Given the description of an element on the screen output the (x, y) to click on. 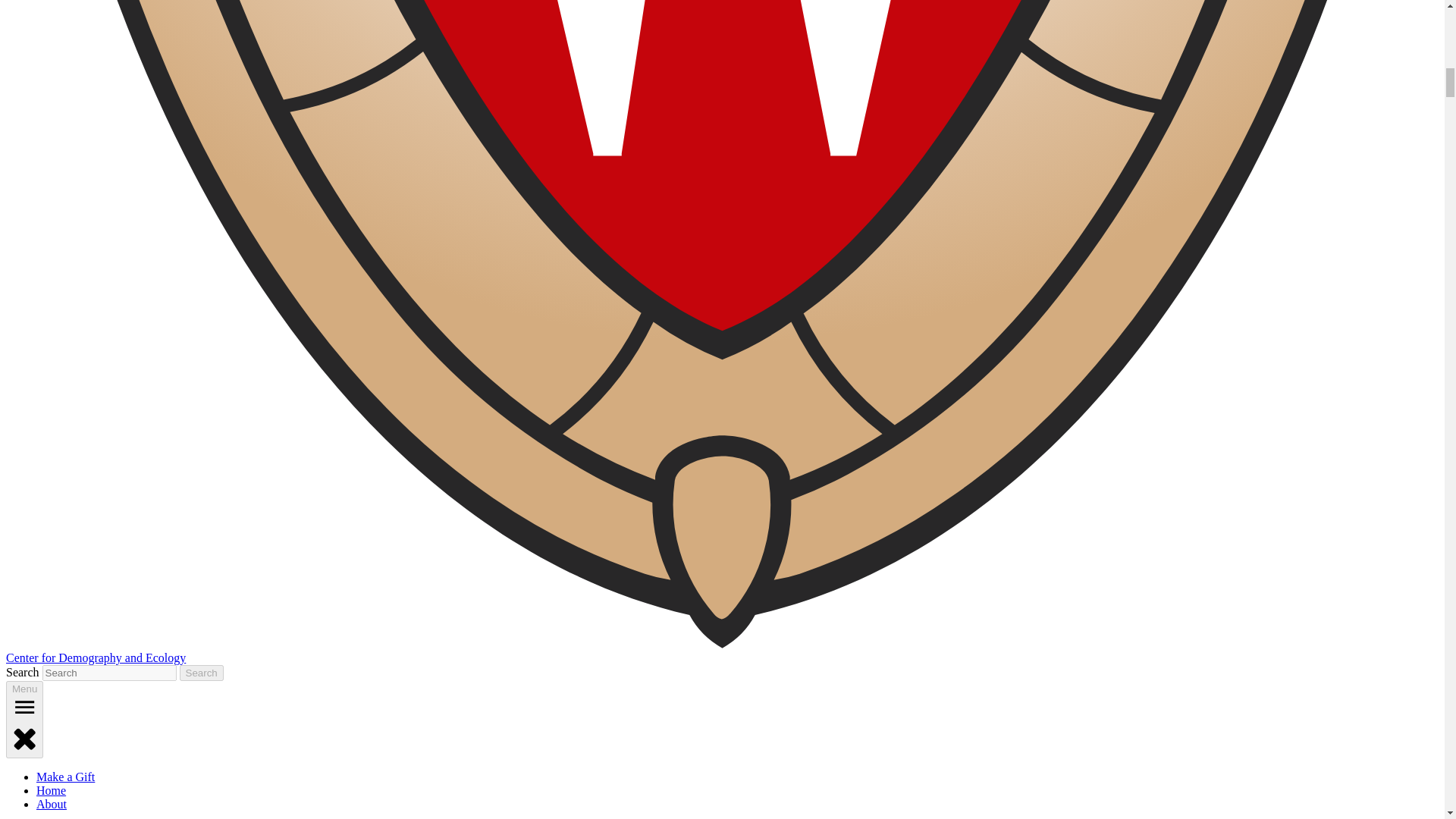
Make a Gift (65, 776)
Search (201, 672)
Search (201, 672)
open menu (24, 706)
Home (50, 789)
Center for Demography and Ecology (95, 657)
Search (201, 672)
